Given the description of an element on the screen output the (x, y) to click on. 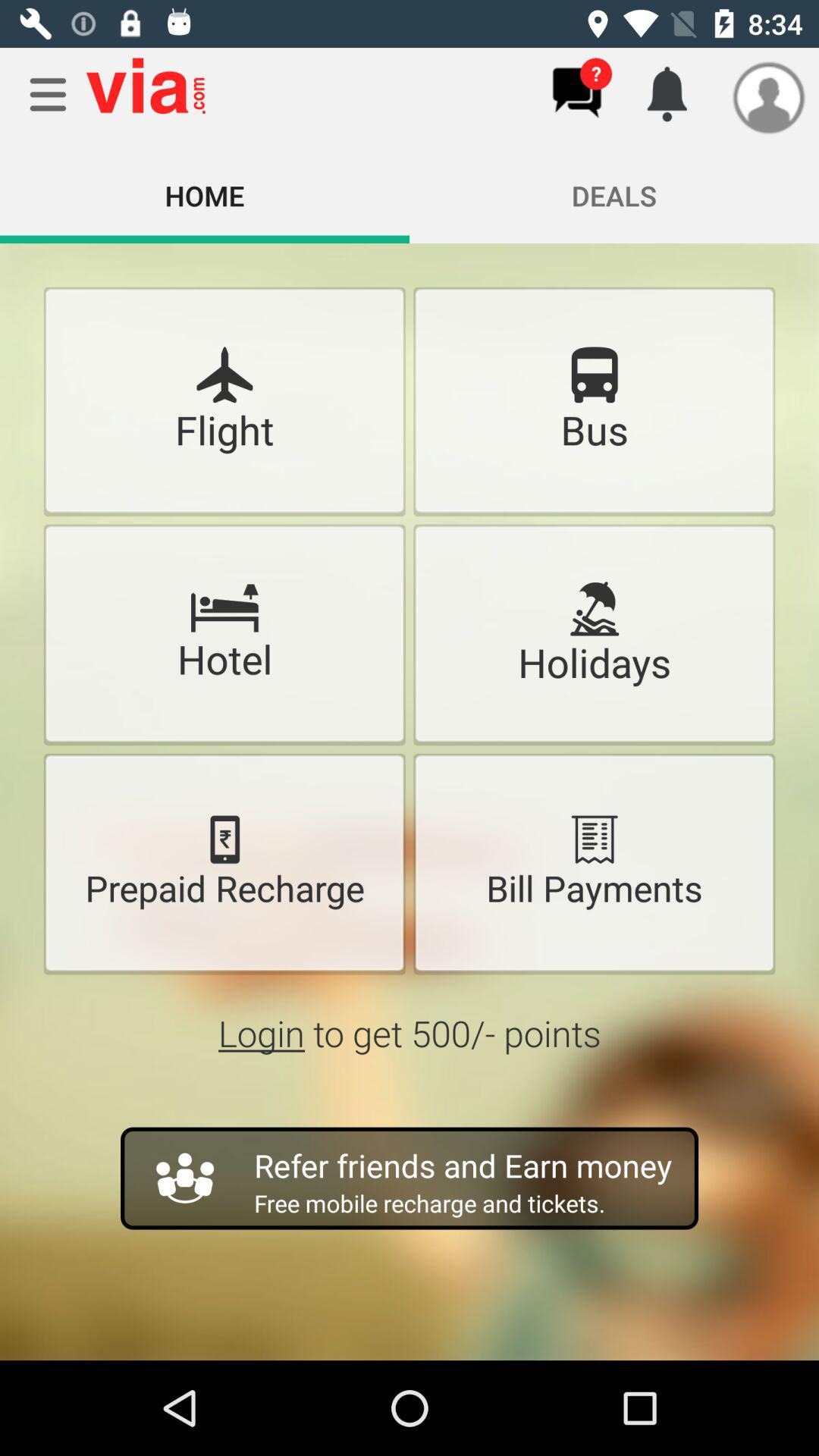
view chats (576, 92)
